Given the description of an element on the screen output the (x, y) to click on. 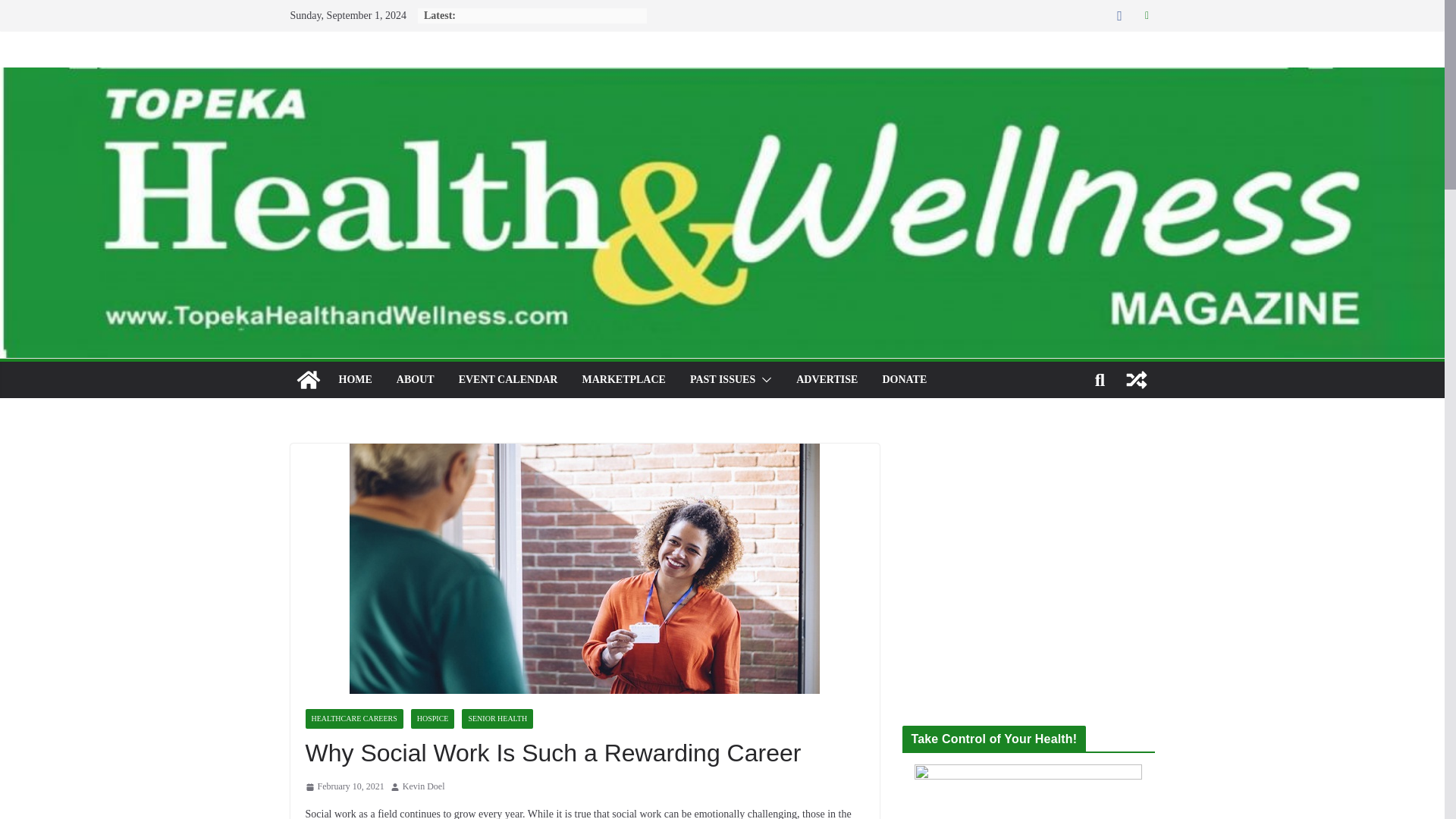
HOME (354, 379)
HOSPICE (432, 718)
ADVERTISE (826, 379)
February 10, 2021 (344, 786)
PAST ISSUES (722, 379)
MARKETPLACE (622, 379)
View a random post (1136, 379)
Kevin Doel (424, 786)
EVENT CALENDAR (507, 379)
7:00 pm (344, 786)
